Given the description of an element on the screen output the (x, y) to click on. 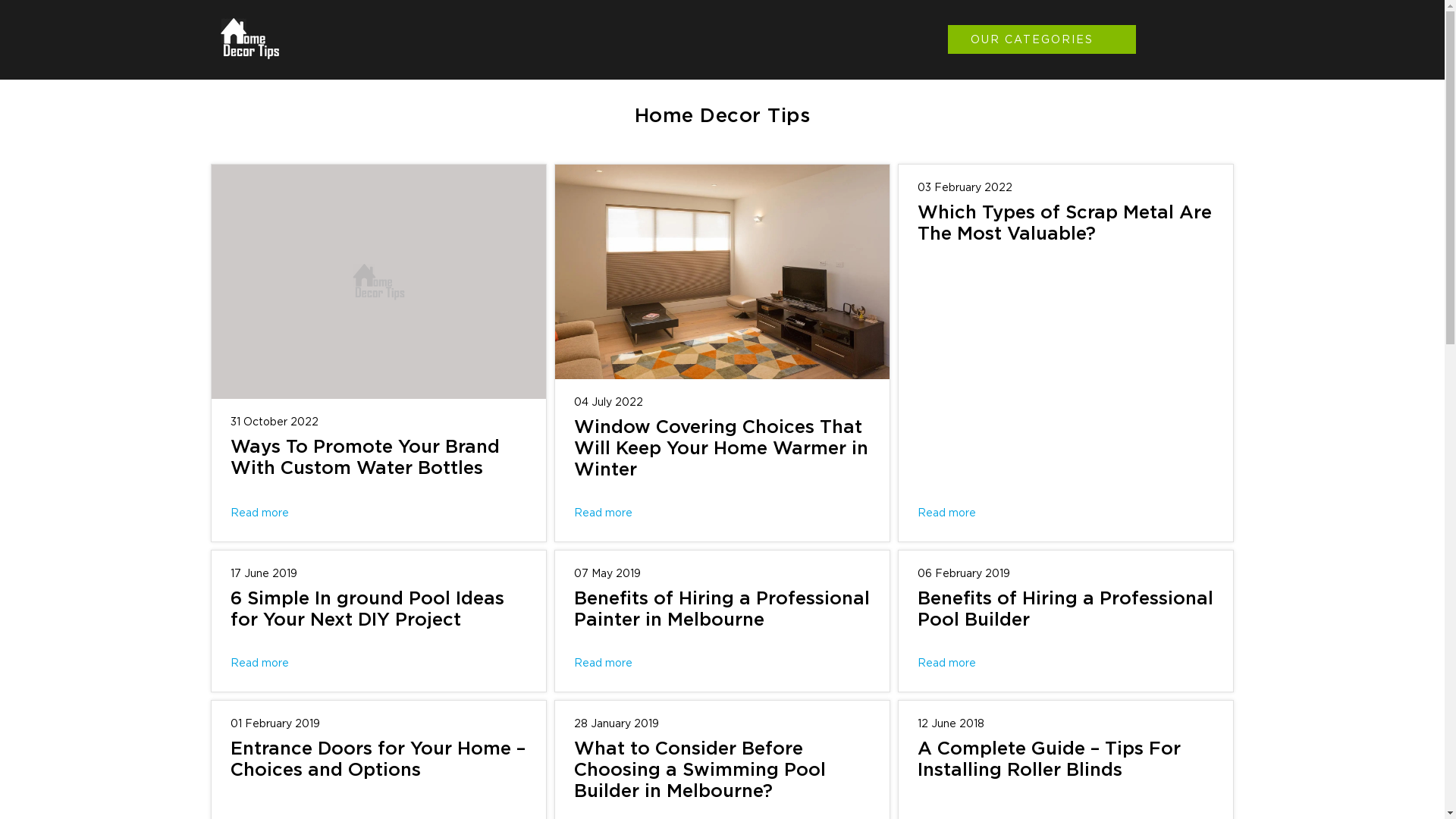
Read more Element type: text (259, 513)
Ways To Promote Your Brand With Custom Water Bottles Element type: text (364, 457)
6 Simple In ground Pool Ideas for Your Next DIY Project Element type: text (367, 609)
Benefits of Hiring a Professional Painter in Melbourne Element type: text (721, 609)
Read more Element type: text (259, 663)
Read more Element type: text (946, 513)
Read more Element type: text (603, 663)
Which Types of Scrap Metal Are The Most Valuable? Element type: text (1064, 223)
Read more Element type: text (603, 513)
Benefits of Hiring a Professional Pool Builder Element type: text (1065, 609)
OUR CATEGORIES Element type: text (1041, 39)
Read more Element type: text (946, 663)
